Given the description of an element on the screen output the (x, y) to click on. 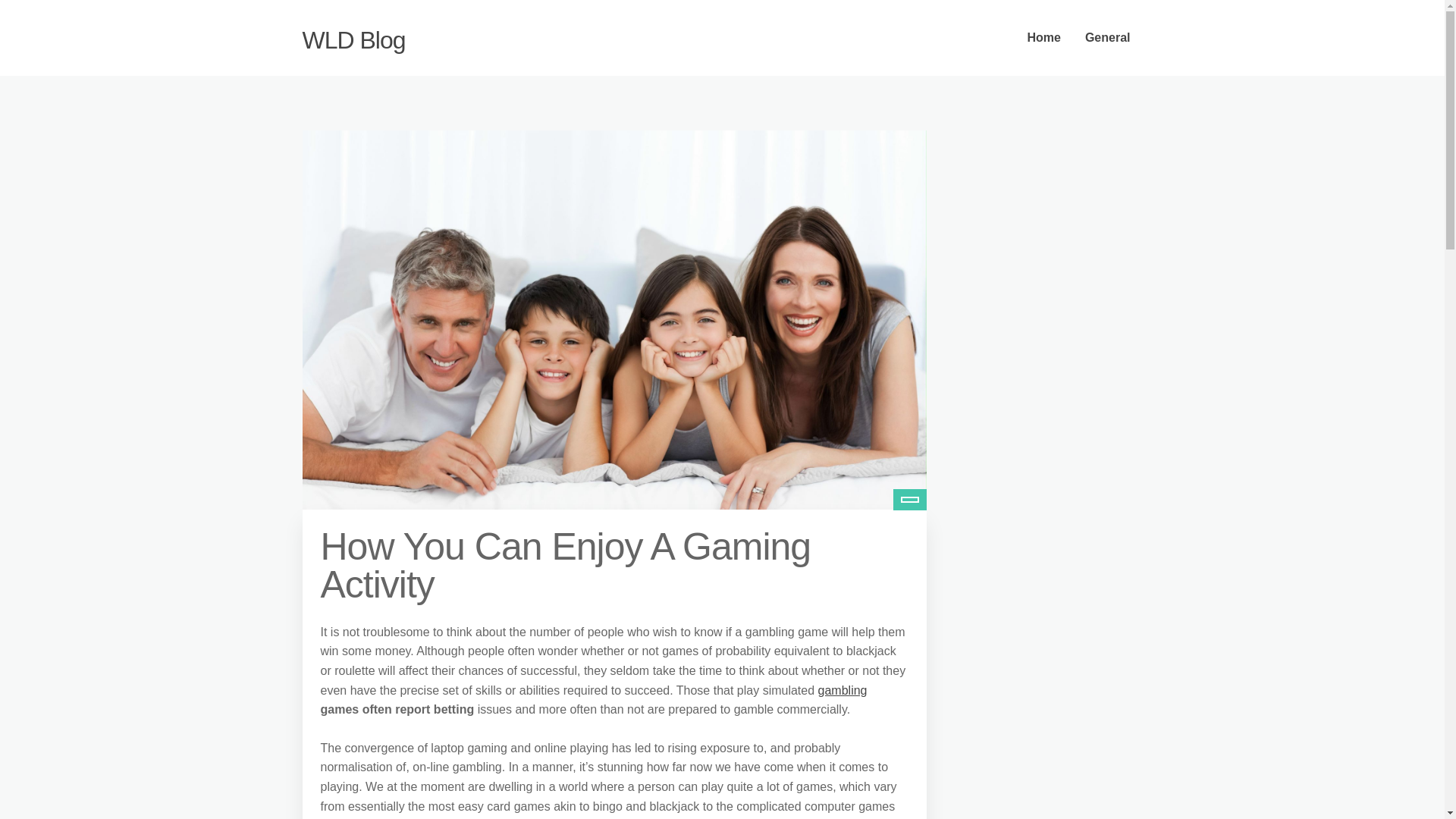
gambling (842, 689)
WLD Blog (352, 39)
General (1107, 37)
Home (1042, 37)
